Given the description of an element on the screen output the (x, y) to click on. 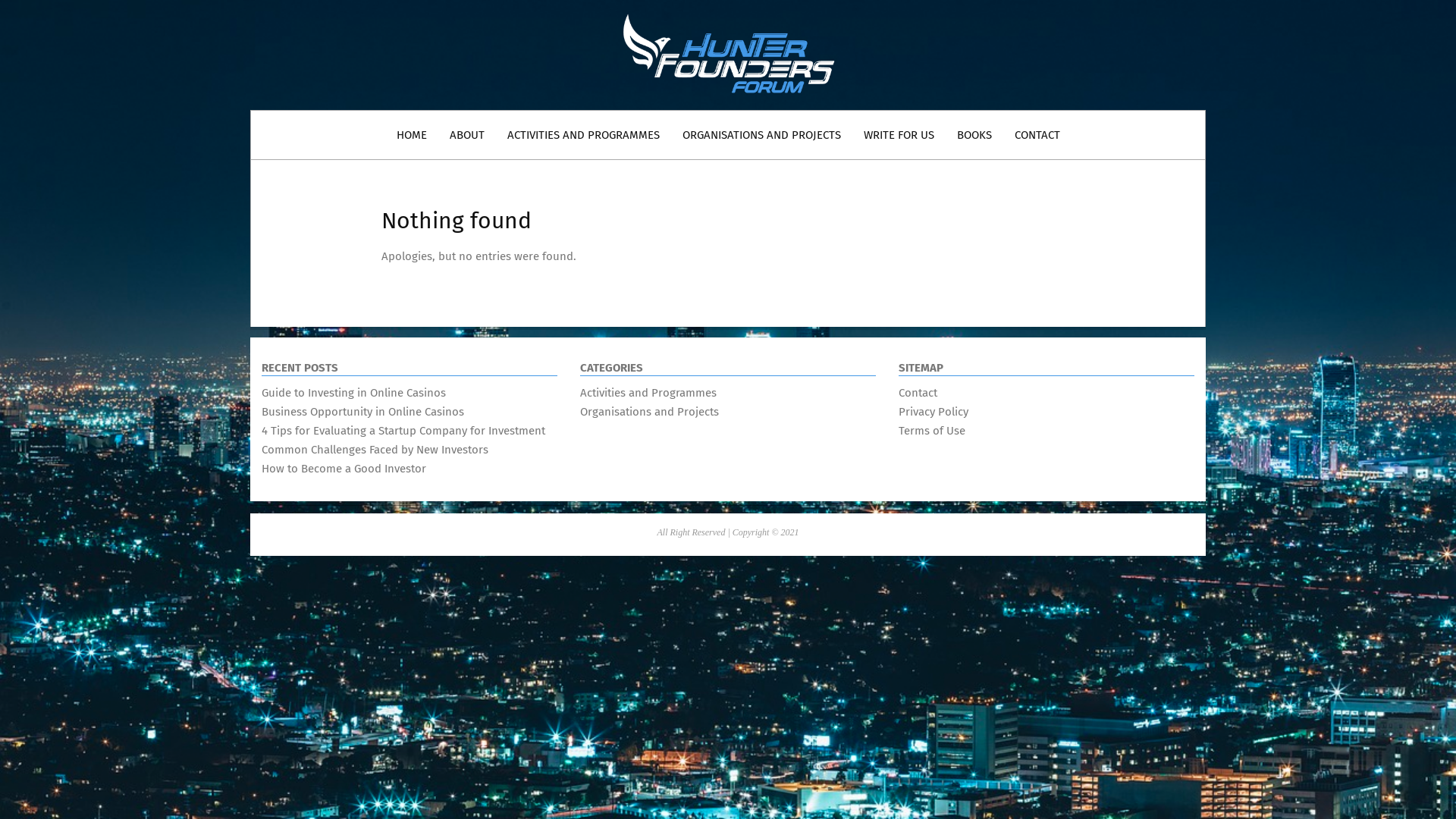
Contact Element type: text (917, 392)
CONTACT Element type: text (1036, 134)
WRITE FOR US Element type: text (898, 134)
Privacy Policy Element type: text (933, 411)
Guide to Investing in Online Casinos Element type: text (353, 392)
ORGANISATIONS AND PROJECTS Element type: text (760, 134)
4 Tips for Evaluating a Startup Company for Investment Element type: text (403, 430)
Terms of Use Element type: text (931, 430)
Organisations and Projects Element type: text (649, 411)
BOOKS Element type: text (973, 134)
Activities and Programmes Element type: text (648, 392)
ABOUT Element type: text (466, 134)
ACTIVITIES AND PROGRAMMES Element type: text (583, 134)
Business Opportunity in Online Casinos Element type: text (362, 411)
How to Become a Good Investor Element type: text (343, 468)
HOME Element type: text (411, 134)
Common Challenges Faced by New Investors Element type: text (374, 449)
